Given the description of an element on the screen output the (x, y) to click on. 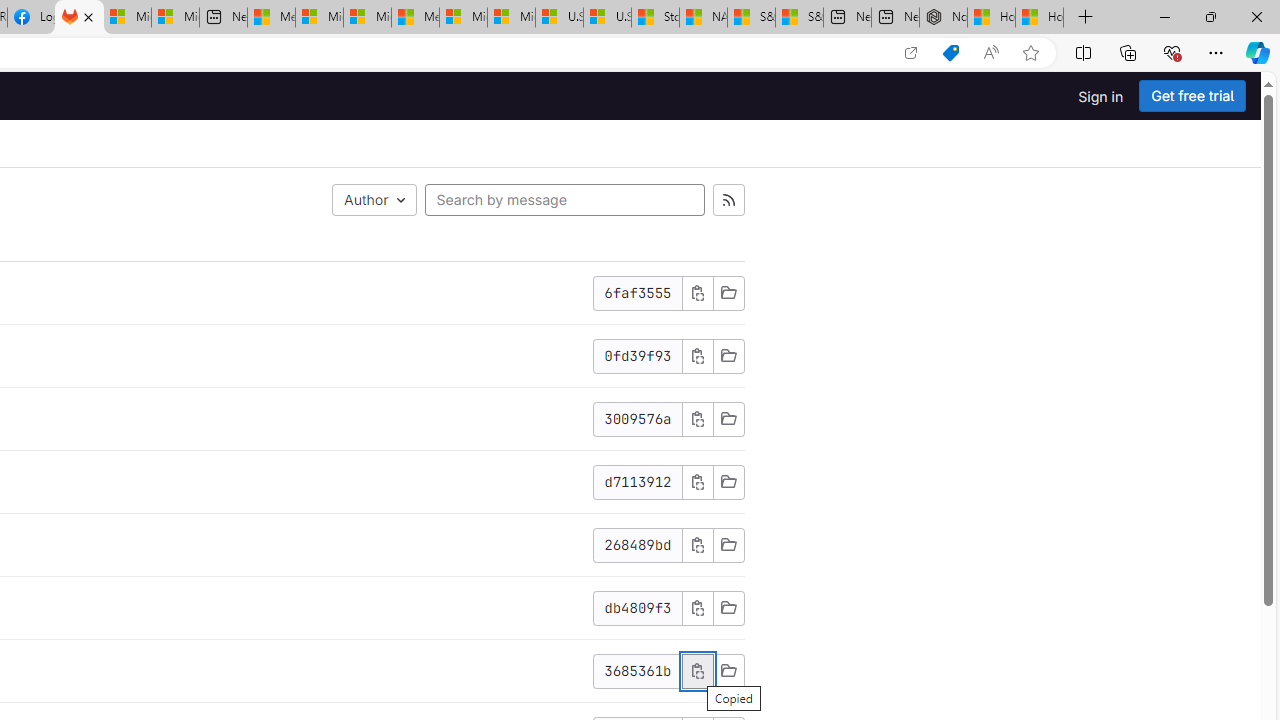
Shopping in Microsoft Edge (950, 53)
How to Use a Monitor With Your Closed Laptop (1039, 17)
Copied (697, 671)
Sign in (1100, 95)
Copy commit SHA (697, 607)
Commits feed (727, 200)
